Given the description of an element on the screen output the (x, y) to click on. 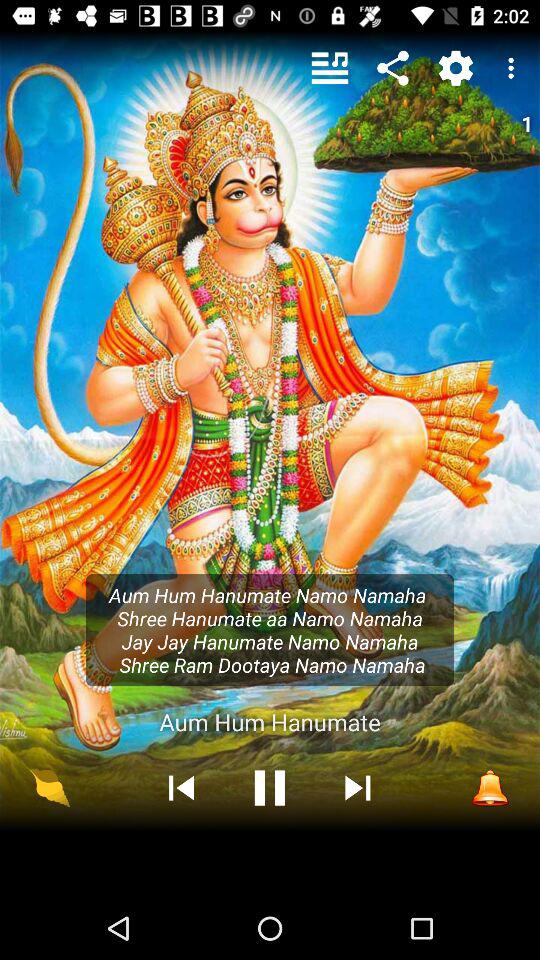
click on the three vertical dots at the top right corner (514, 68)
click on the bell button at the bottom right corner of the page (490, 788)
click on pause icon (269, 787)
click on share icon (392, 68)
click on the play button beside the bell icon (357, 788)
